Given the description of an element on the screen output the (x, y) to click on. 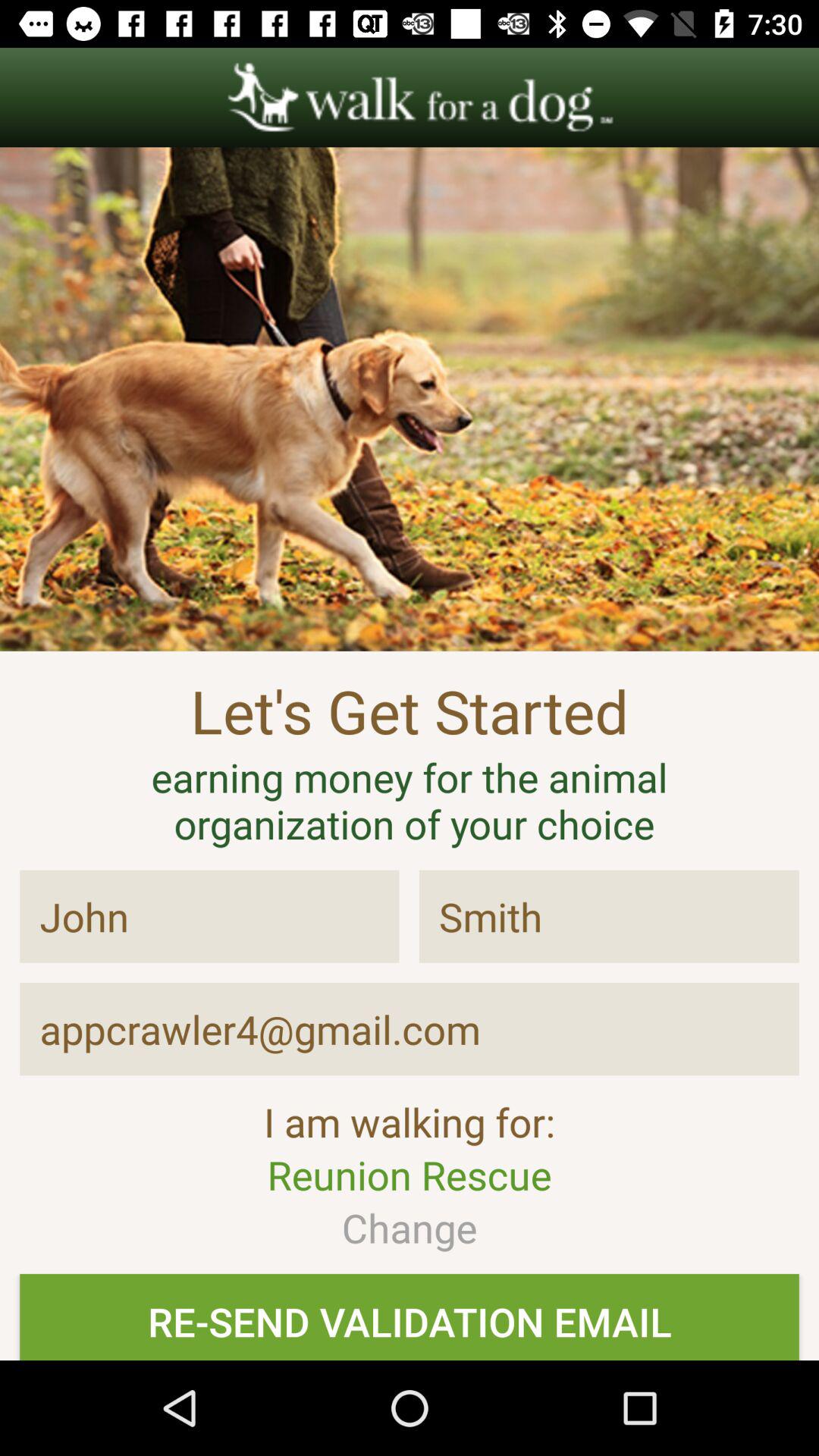
click on smith (609, 916)
select the john (209, 916)
resend validation mail (409, 1316)
select appcrawler4gmailcom (409, 1028)
